Given the description of an element on the screen output the (x, y) to click on. 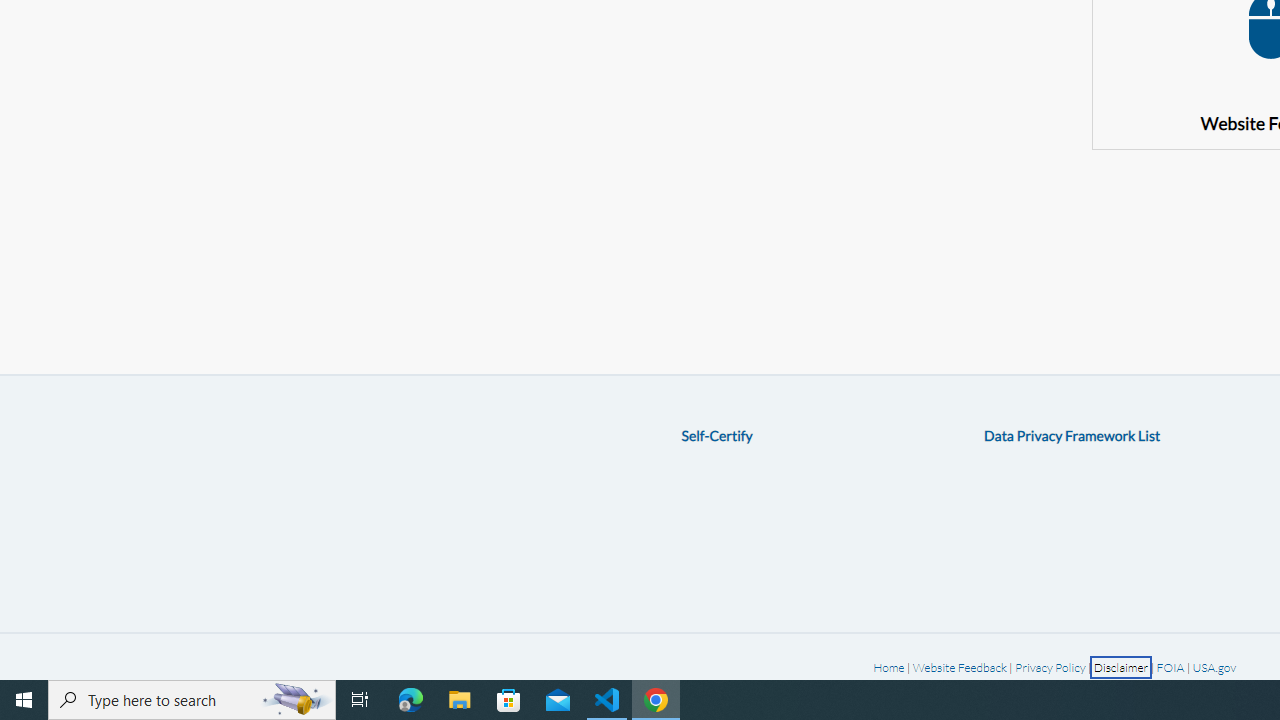
Self-Certify (716, 435)
USA.gov (1213, 666)
FOIA  (1170, 666)
Home (888, 666)
Data Privacy Framework List (1072, 435)
Website Feedback (959, 666)
Disclaimer (1121, 666)
